Given the description of an element on the screen output the (x, y) to click on. 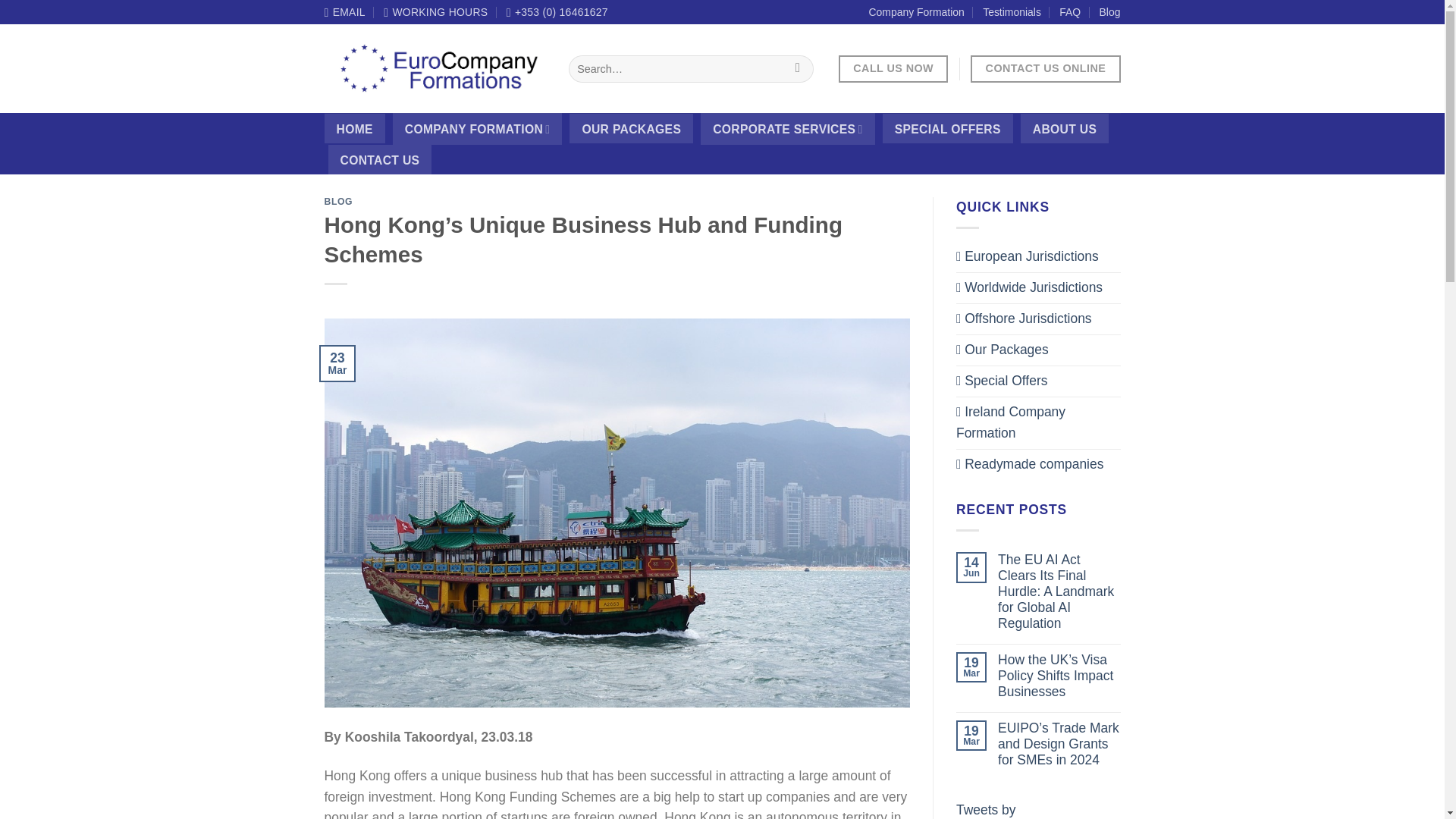
WORKING HOURS (435, 12)
COMPANY FORMATION (477, 128)
EMAIL (344, 12)
HOME (354, 128)
OUR PACKAGES (631, 128)
CONTACT US ONLINE (1045, 68)
Company Formation (916, 12)
CORPORATE SERVICES (787, 128)
CALL US NOW (892, 68)
